Given the description of an element on the screen output the (x, y) to click on. 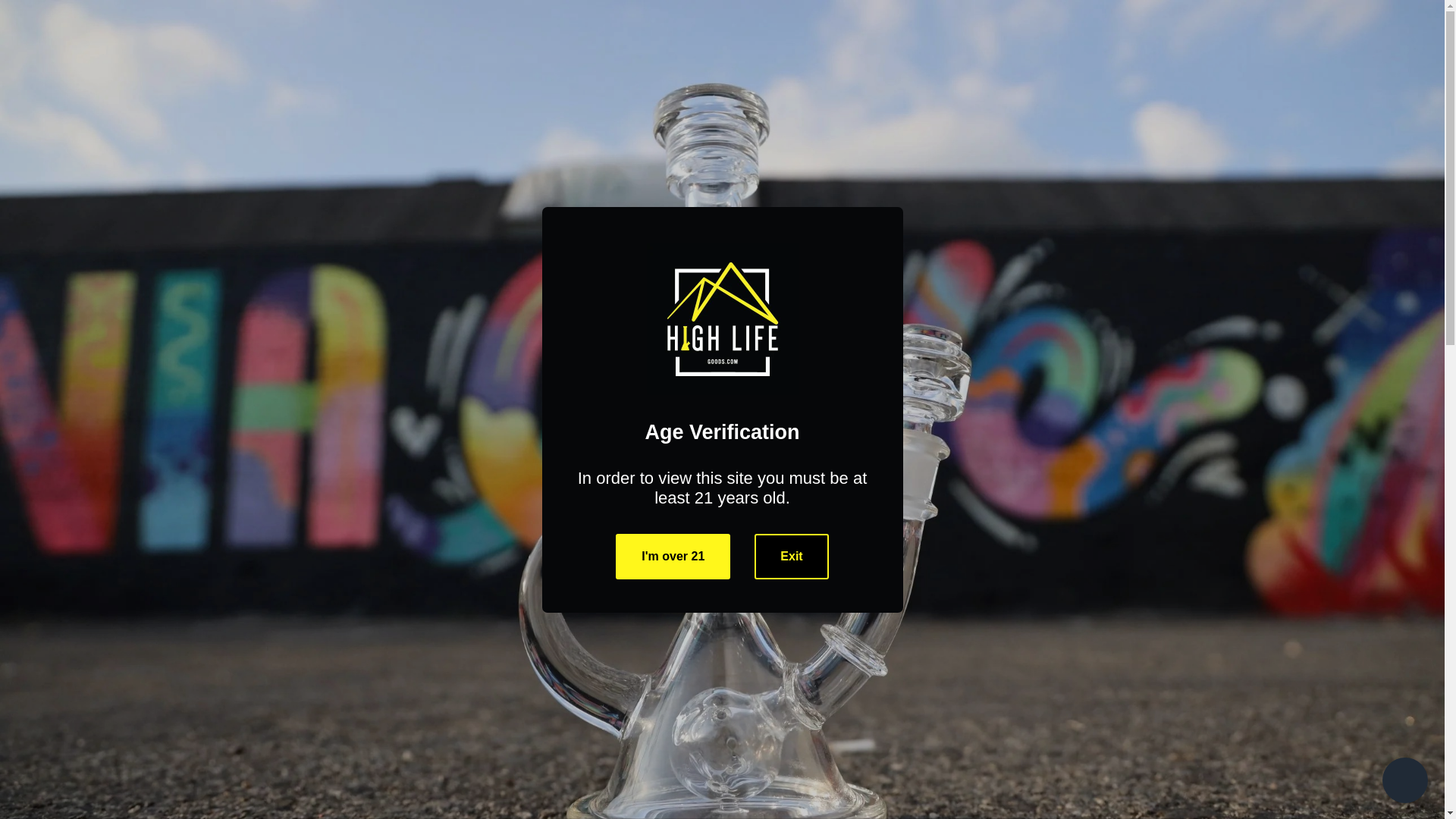
Decrease quantity by 1 (836, 504)
Exit (791, 556)
Shopify online store chat (1404, 781)
1 (876, 504)
Increase quantity by 1 (917, 504)
Brown (788, 403)
I'm over 21 (672, 556)
